Given the description of an element on the screen output the (x, y) to click on. 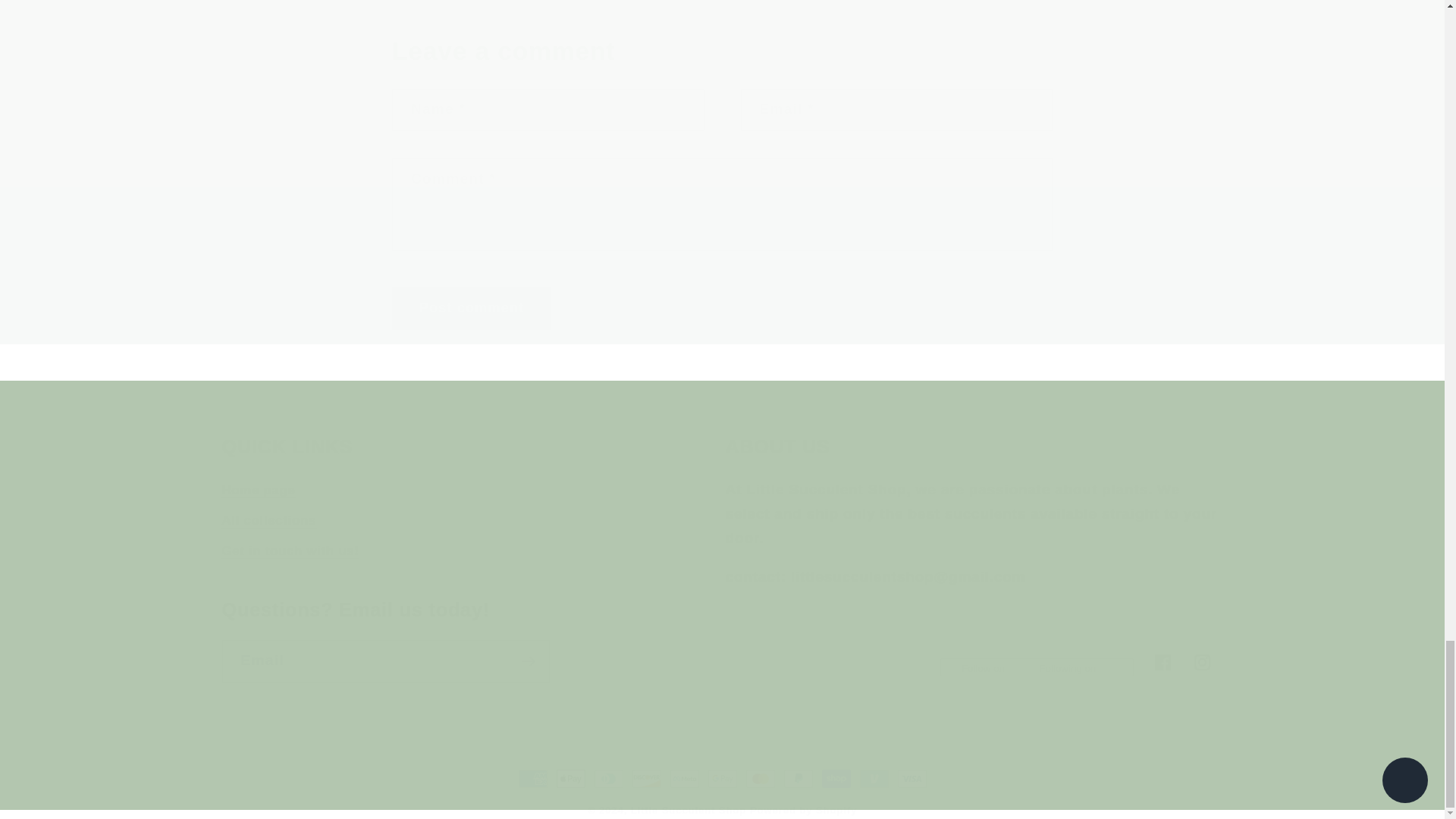
Powered by Shopify (803, 809)
Facebook (1162, 662)
Post comment (471, 308)
Home page (258, 492)
Little Succulent Shop (687, 809)
Instagram (1202, 662)
Get in touch with us! (722, 640)
All collections (289, 551)
